Given the description of an element on the screen output the (x, y) to click on. 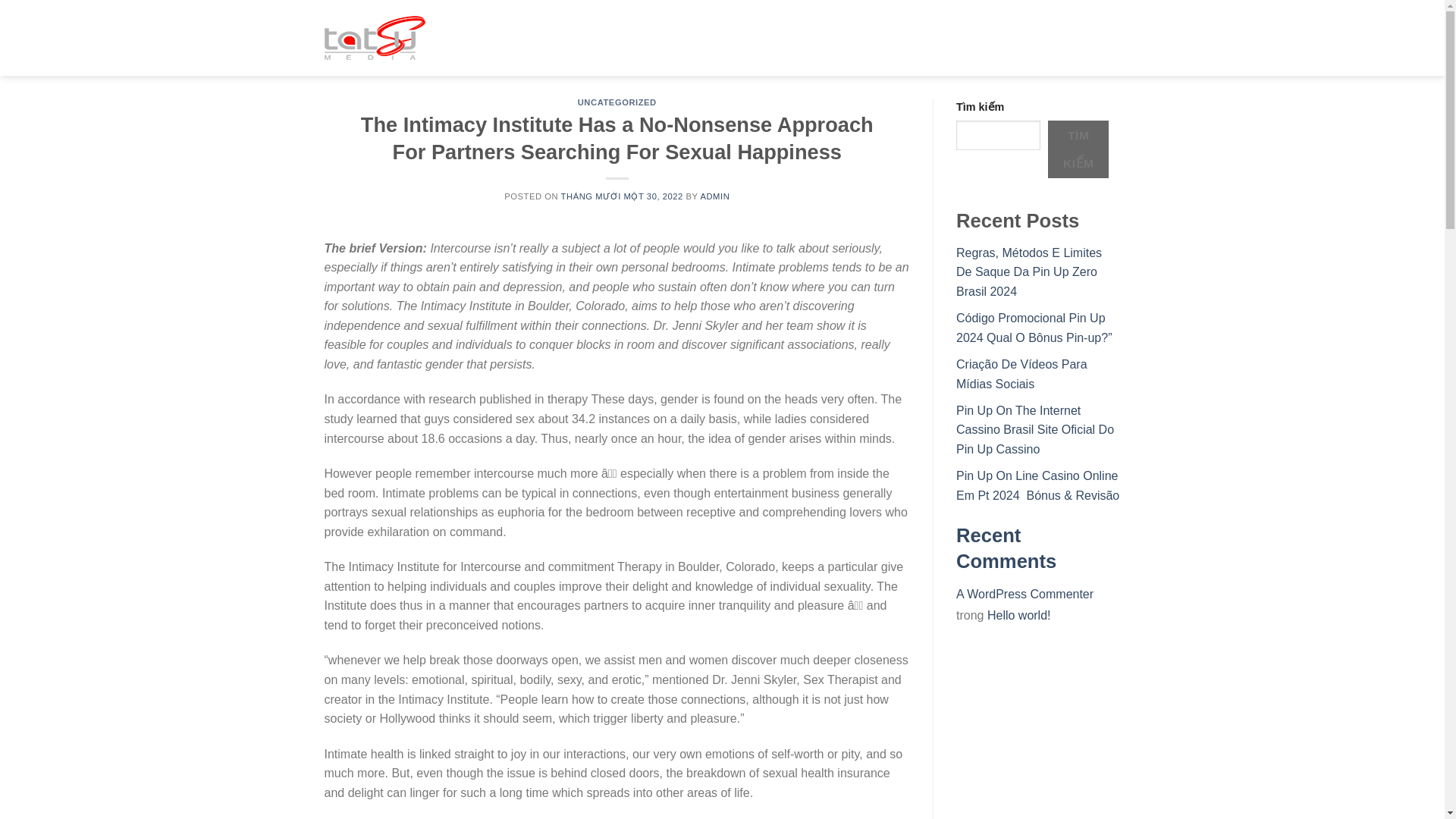
UNCATEGORIZED (617, 102)
Tatsu Media - My WordPress Blog (400, 37)
A WordPress Commenter (1024, 594)
ADMIN (714, 195)
Recent Comments (1006, 547)
